Given the description of an element on the screen output the (x, y) to click on. 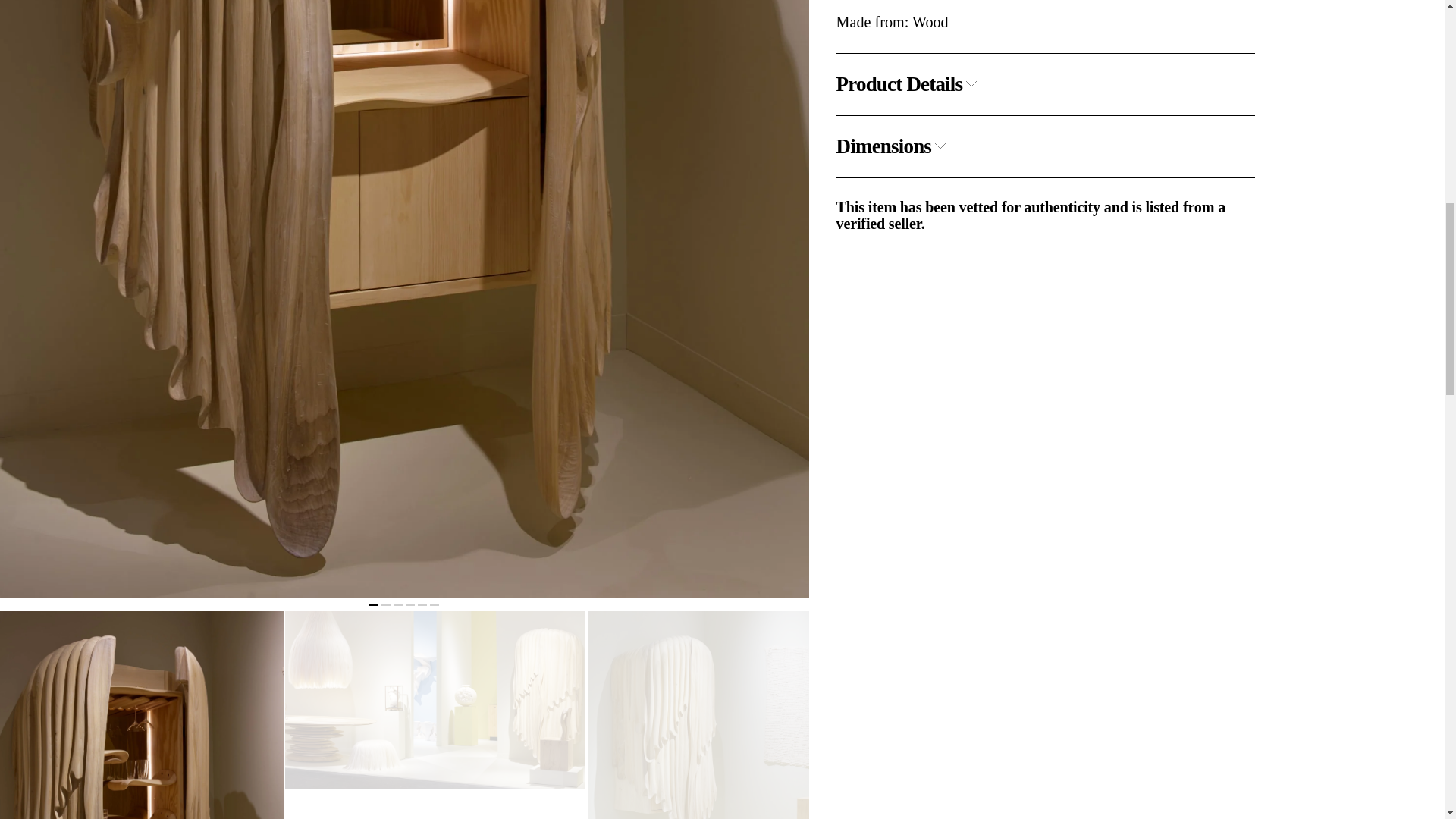
Dimensions (891, 146)
Product Details (906, 84)
